Given the description of an element on the screen output the (x, y) to click on. 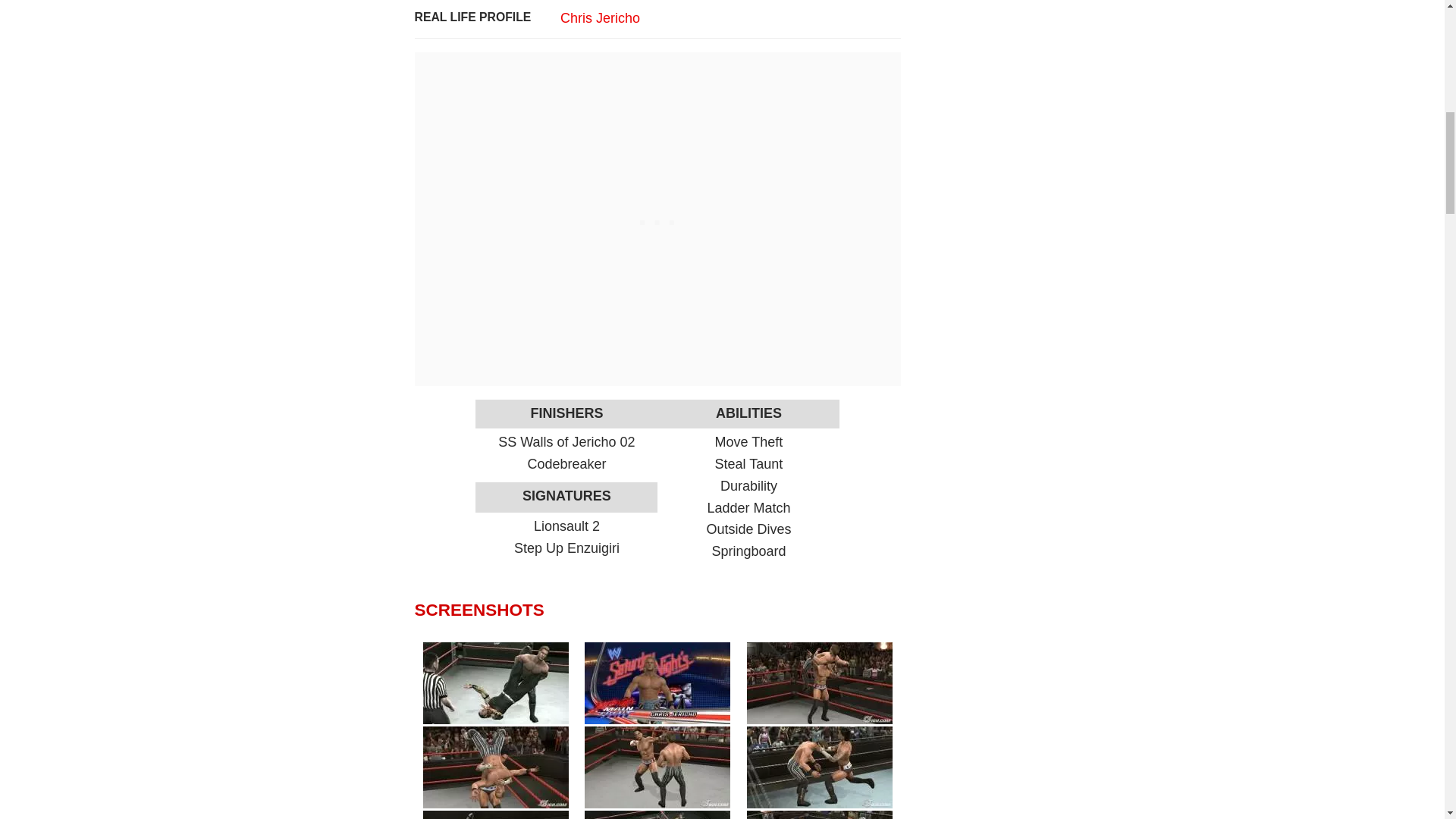
0 (495, 766)
0 (819, 682)
0 (657, 814)
0 (819, 814)
0 (819, 766)
0 (657, 766)
0 (657, 682)
0 (495, 814)
0 (495, 682)
